Given the description of an element on the screen output the (x, y) to click on. 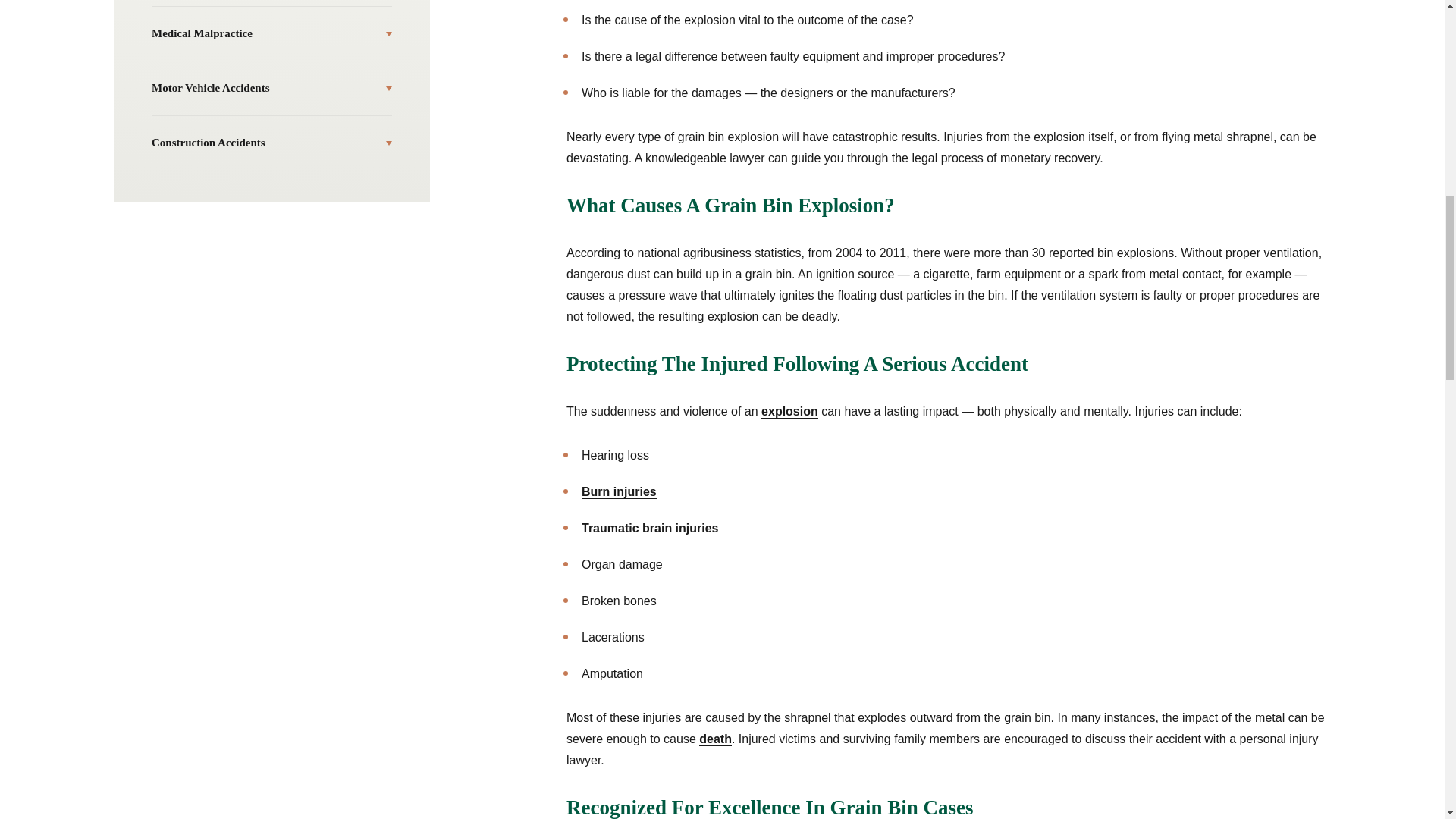
Burn injuries (618, 491)
explosion (789, 411)
